Given the description of an element on the screen output the (x, y) to click on. 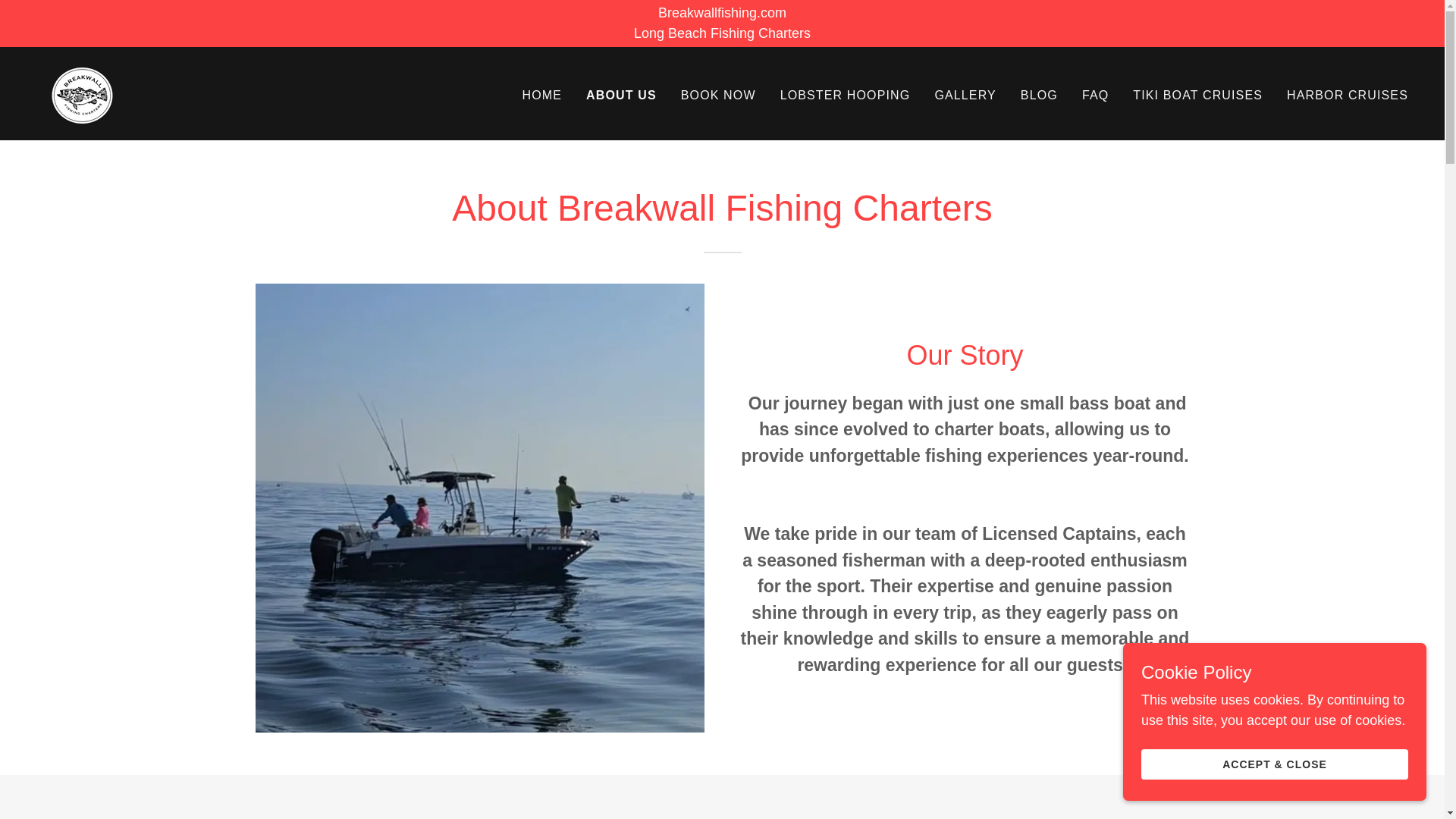
HOME (542, 94)
FAQ (1095, 94)
TIKI BOAT CRUISES (1197, 94)
GALLERY (965, 94)
HARBOR CRUISES (1347, 94)
BOOK NOW (718, 94)
ABOUT US (621, 95)
BLOG (82, 92)
LOBSTER HOOPING (1039, 94)
